Given the description of an element on the screen output the (x, y) to click on. 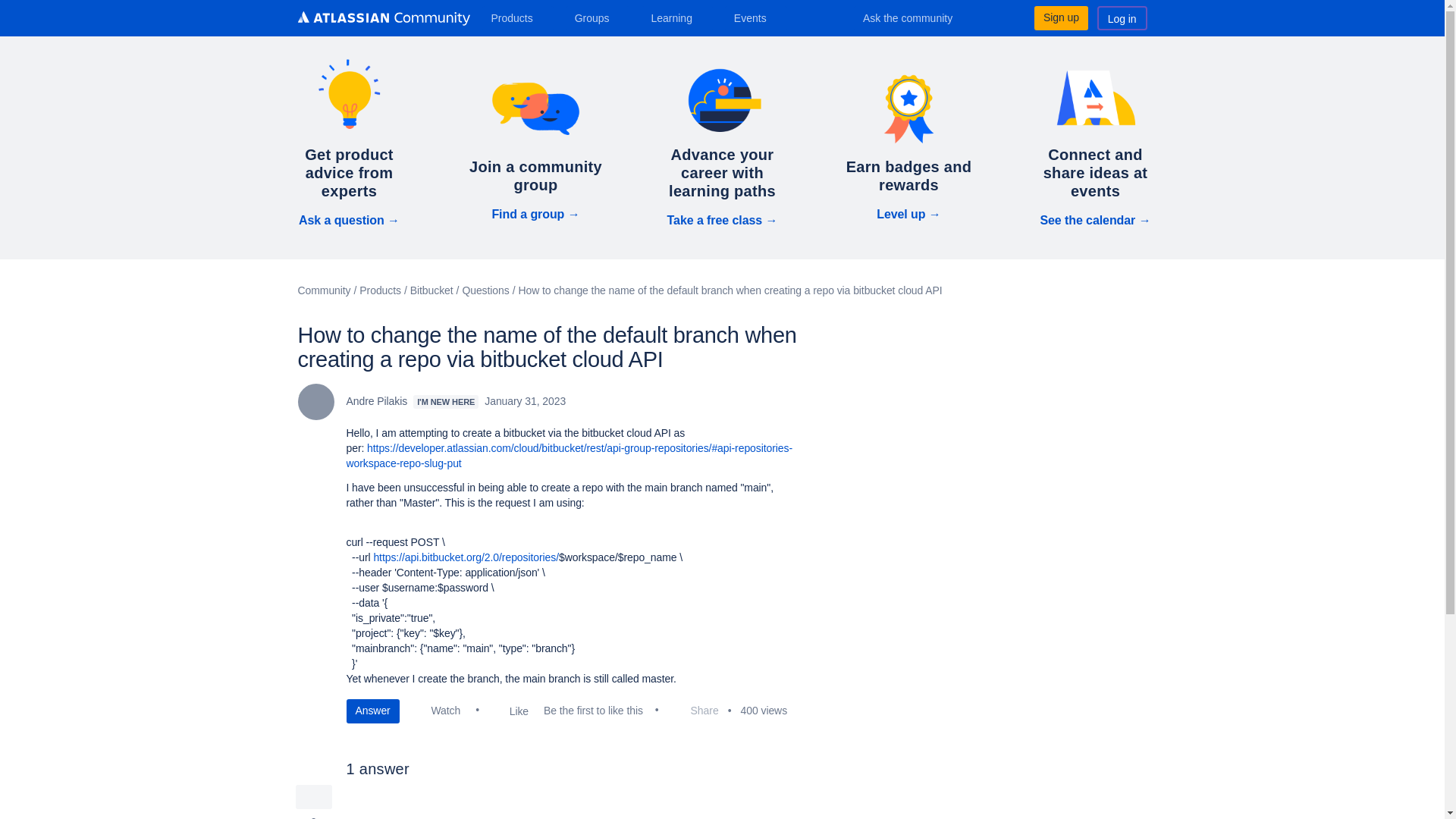
Ask the community  (917, 17)
Products (517, 17)
Atlassian Community logo (382, 19)
Andre Pilakis (315, 402)
Events (756, 17)
Sign up (1060, 17)
Atlassian Community logo (382, 18)
Log in (1122, 17)
Groups (598, 17)
Learning (676, 17)
